Given the description of an element on the screen output the (x, y) to click on. 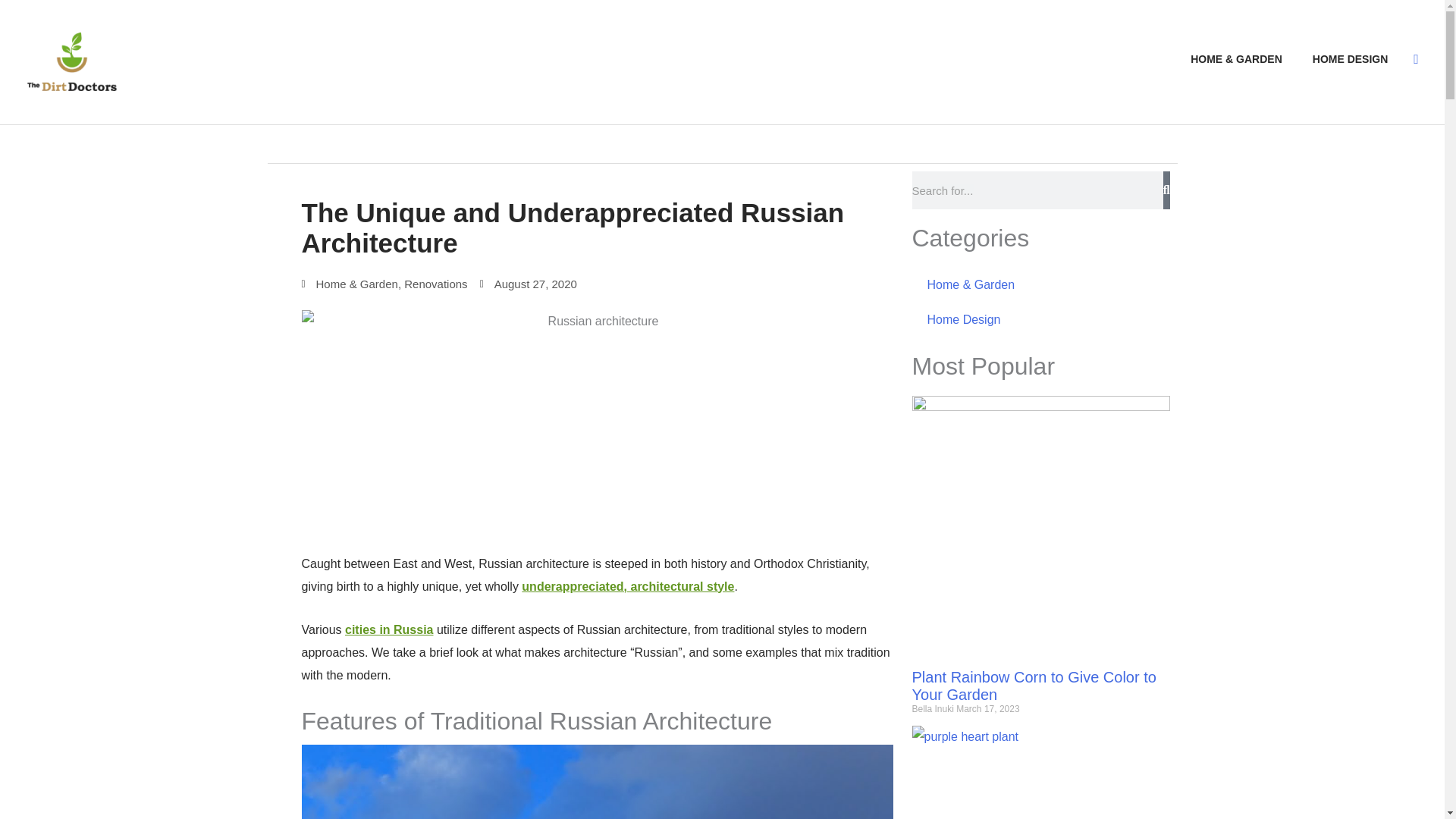
underappreciated, architectural style (627, 585)
Renovations (435, 283)
Home Design (1040, 319)
Search (1166, 190)
cities in Russia (389, 629)
HOME DESIGN (1350, 58)
August 27, 2020 (528, 283)
SEARCH (1415, 59)
